Given the description of an element on the screen output the (x, y) to click on. 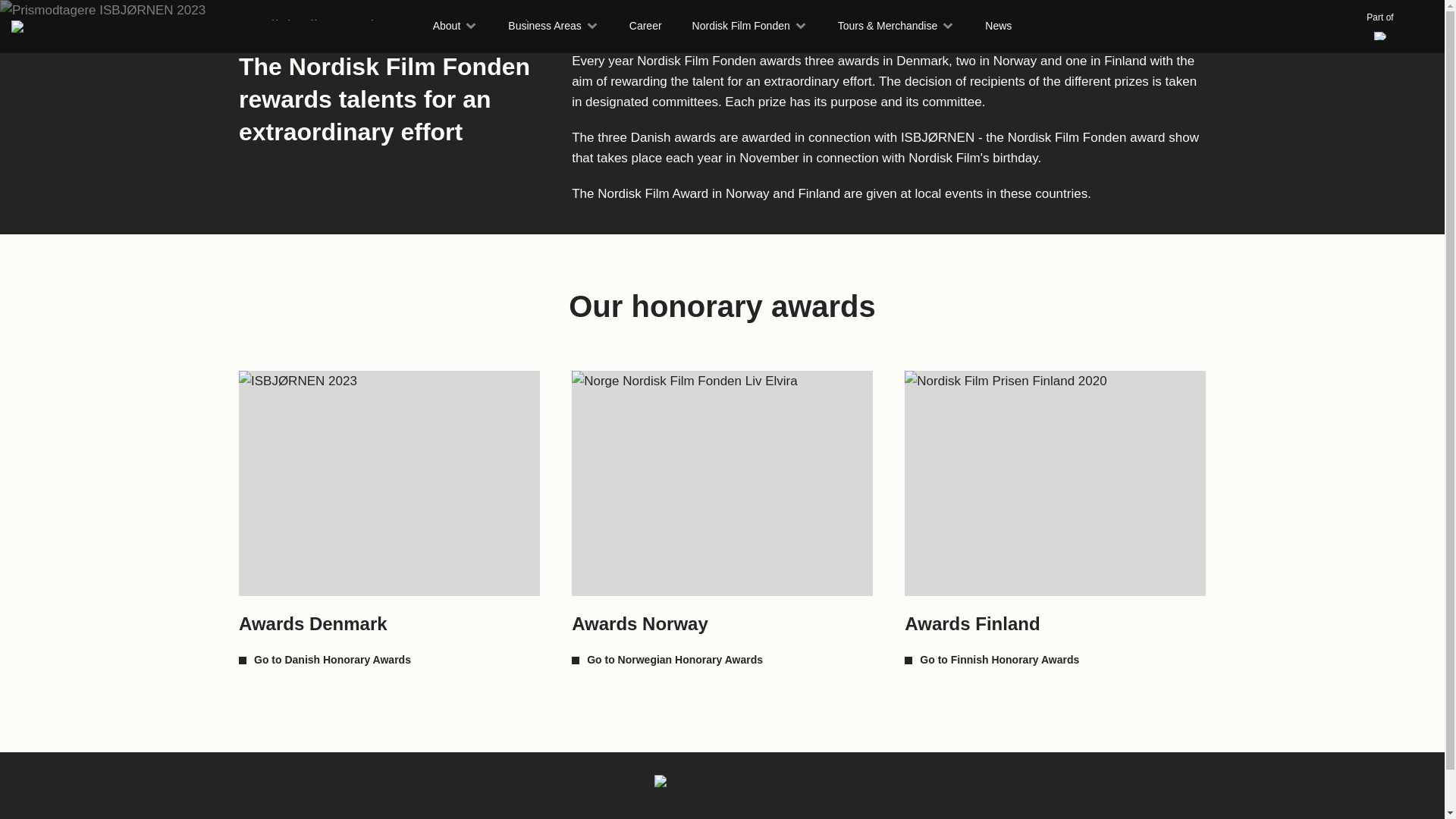
Go to Norwegian Honorary Awards (667, 658)
About (455, 25)
Nordisk Film Fonden (750, 25)
Go to Danish Honorary Awards (324, 658)
Business Areas (553, 25)
Career (645, 25)
News (998, 25)
Cookie Policy (1250, 818)
Privacy Policy (1322, 818)
FAQ and contact (1398, 818)
